Given the description of an element on the screen output the (x, y) to click on. 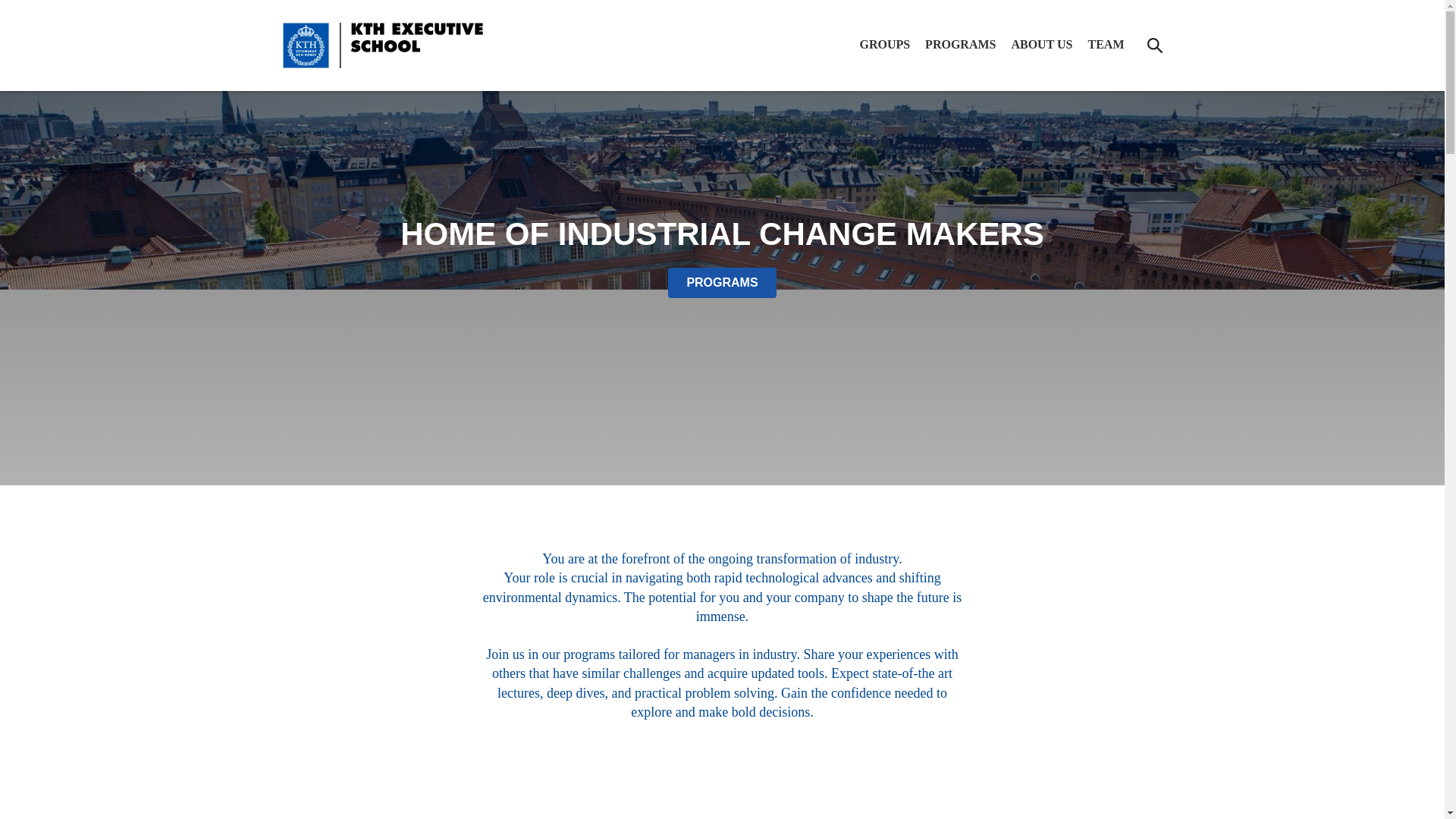
TEAM (1105, 44)
ABOUT US (1041, 44)
PROGRAMS (960, 44)
GROUPS (884, 44)
PROGRAMS (722, 282)
